Given the description of an element on the screen output the (x, y) to click on. 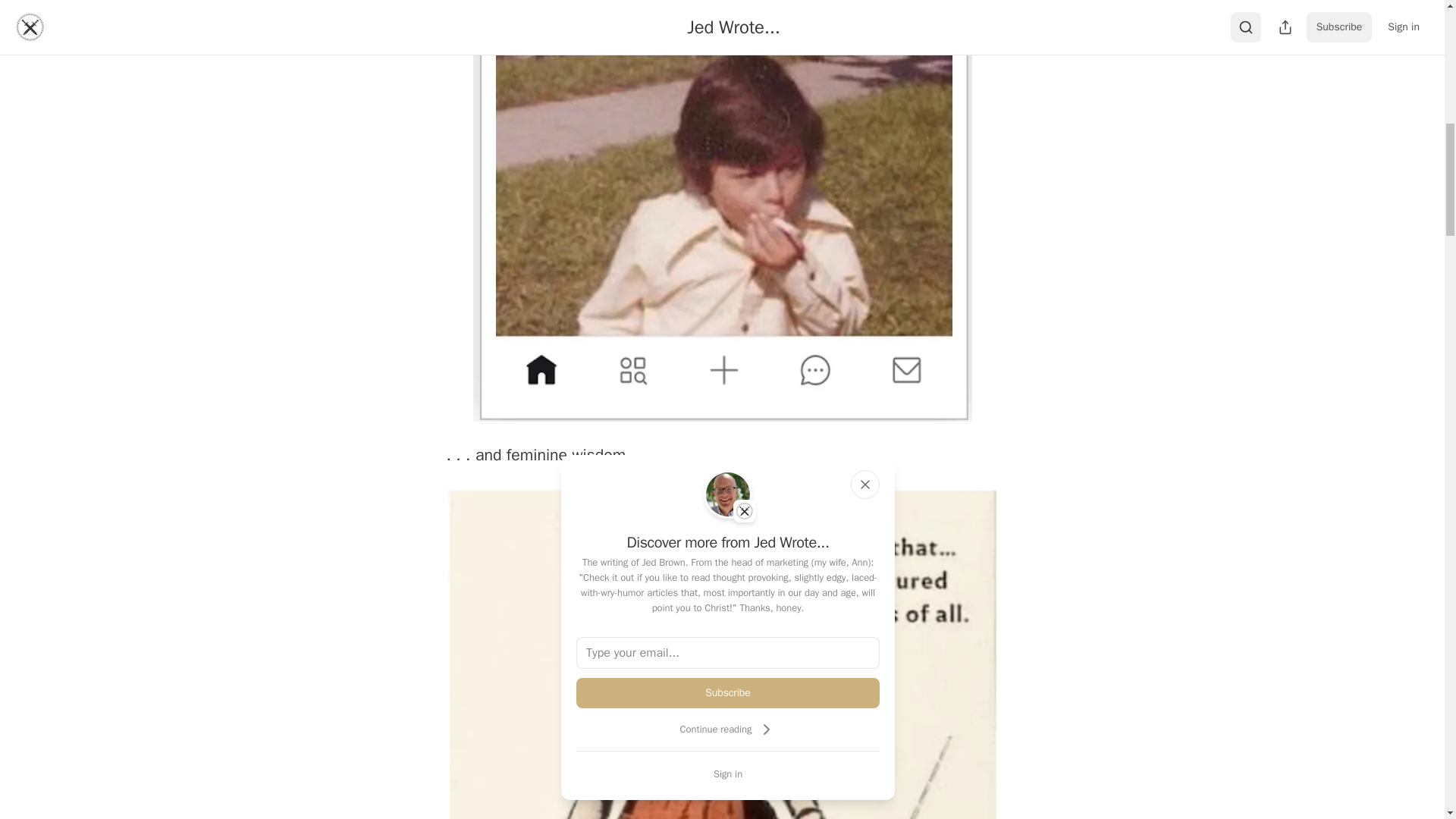
Subscribe (727, 693)
Sign in (727, 773)
